Given the description of an element on the screen output the (x, y) to click on. 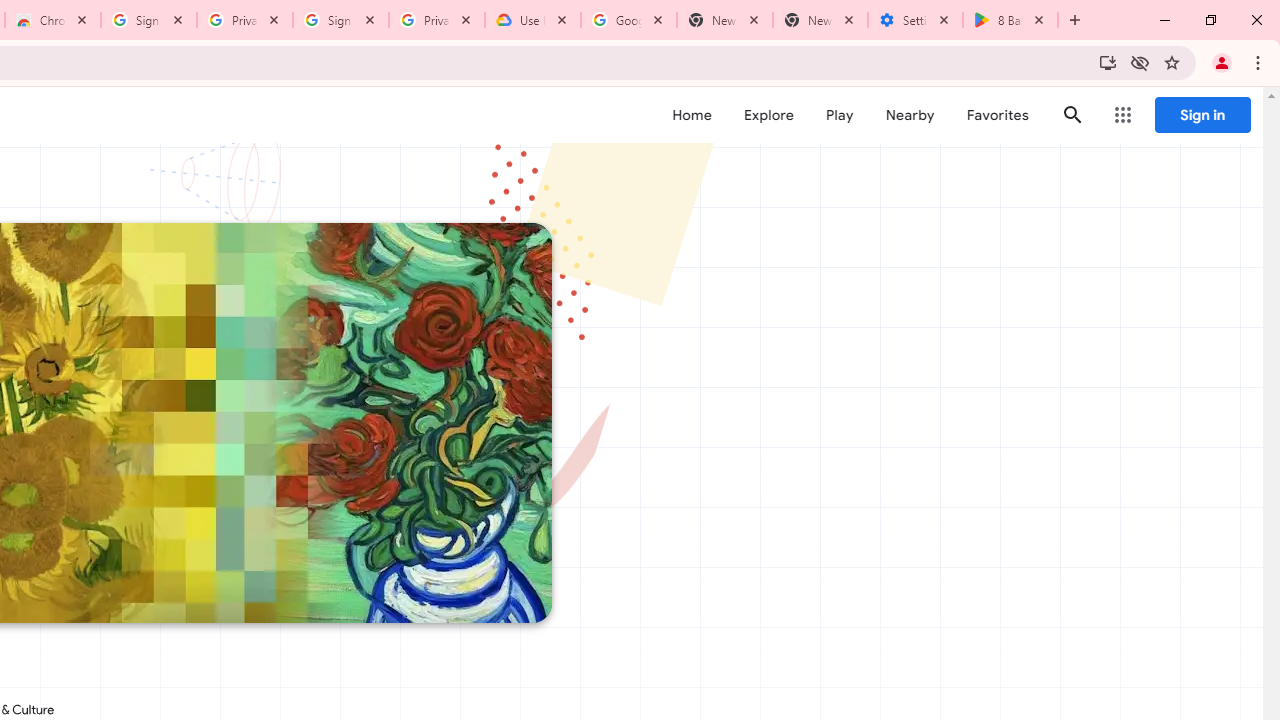
Sign in - Google Accounts (341, 20)
Explore (768, 115)
Close Experiment (1222, 126)
Nearby (910, 115)
Sign in - Google Accounts (149, 20)
New Tab (820, 20)
